Given the description of an element on the screen output the (x, y) to click on. 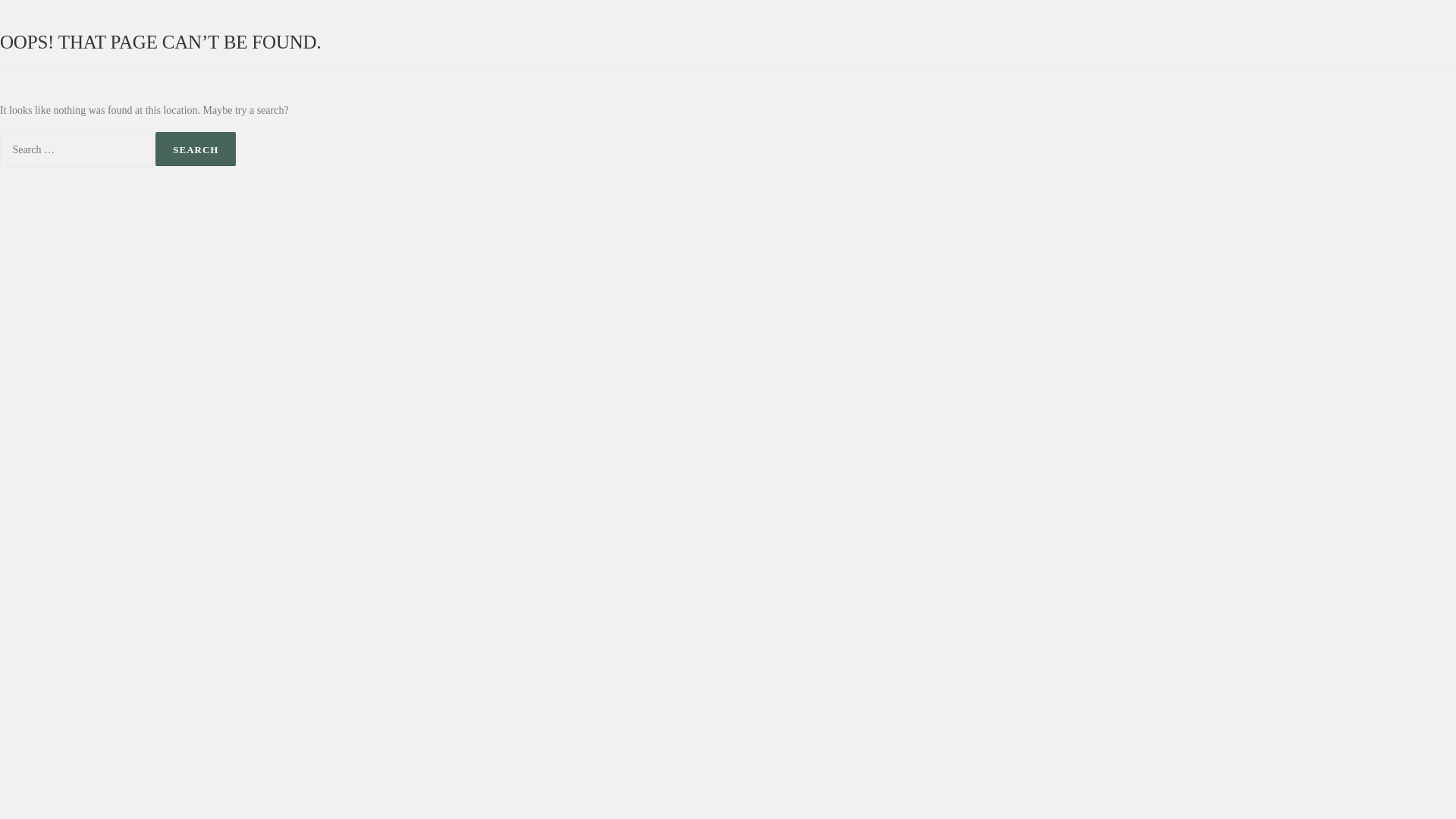
Search Element type: text (195, 148)
